Given the description of an element on the screen output the (x, y) to click on. 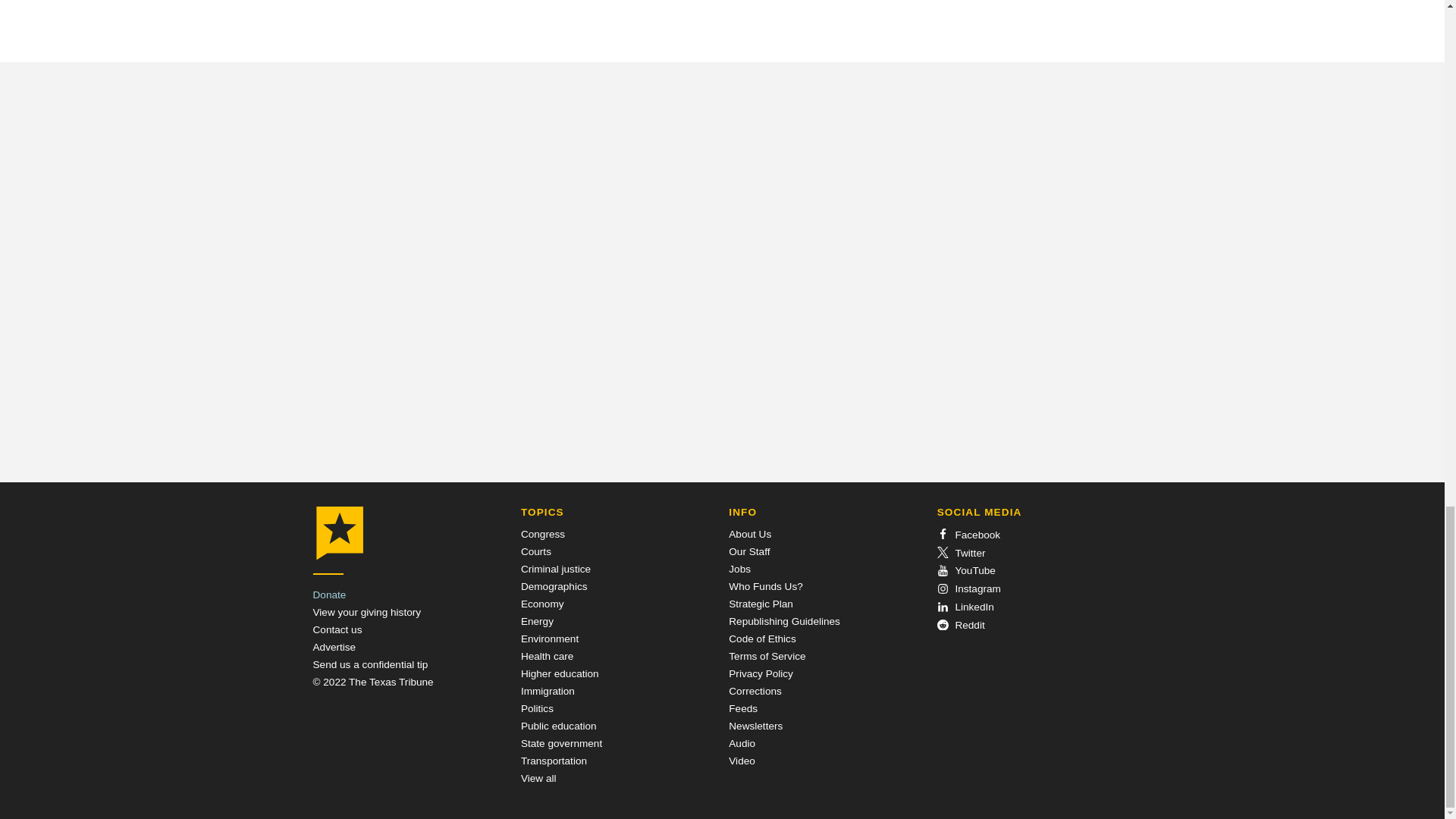
Contact us (337, 629)
Terms of Service (767, 655)
Facebook (968, 534)
Video (742, 760)
Send a Tip (370, 664)
Twitter (961, 552)
About Us (750, 533)
Newsletters (756, 726)
Privacy Policy (761, 673)
View your giving history (366, 612)
Who Funds Us? (765, 586)
Feeds (743, 708)
Advertise (334, 646)
Donate (329, 594)
Republishing Guidelines (784, 621)
